Given the description of an element on the screen output the (x, y) to click on. 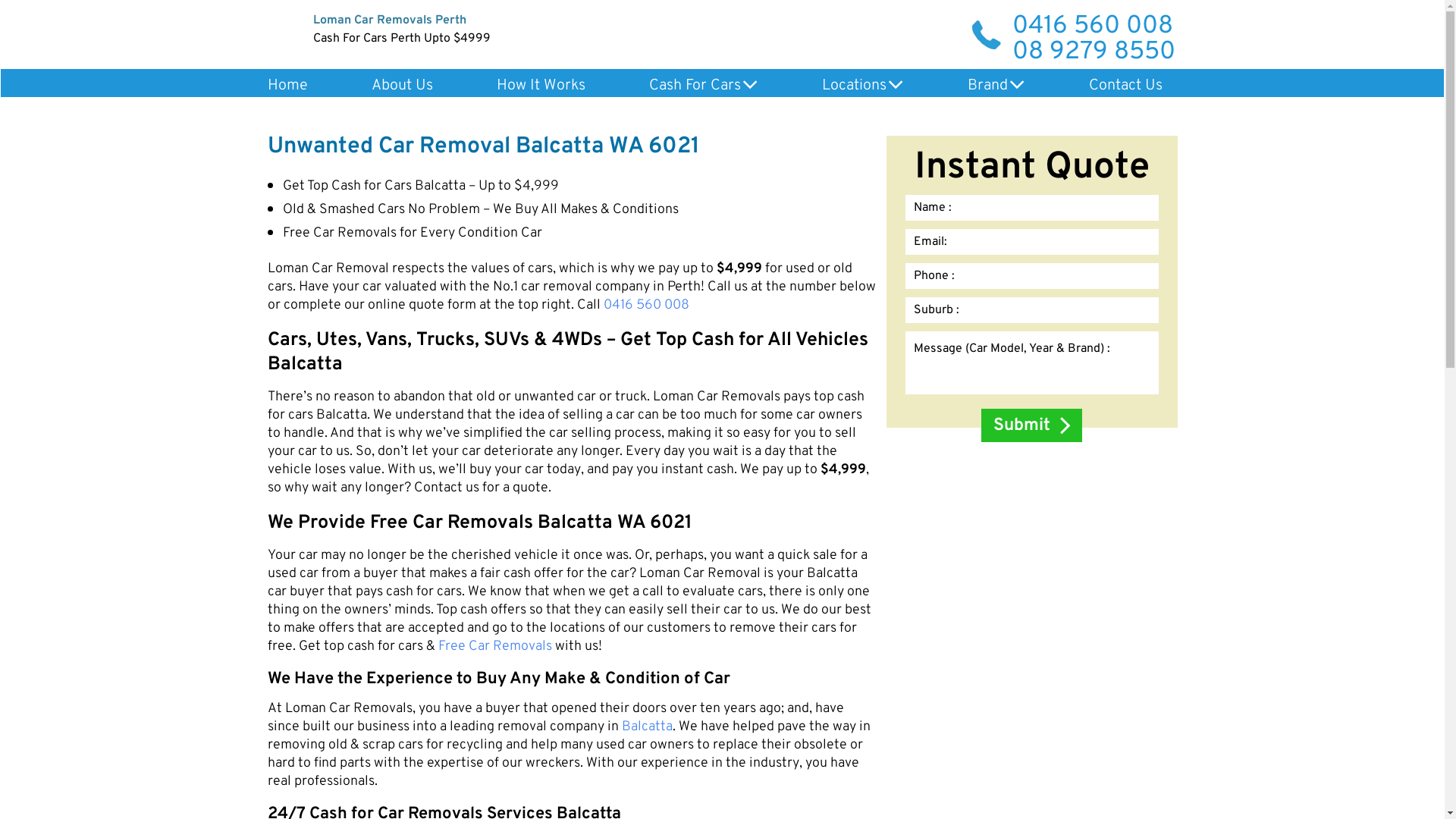
0416 560 008 Element type: text (646, 305)
Free Car Removals Element type: text (495, 646)
How It Works Element type: text (539, 85)
Submit Element type: text (1031, 425)
0416 560 008 Element type: text (1093, 26)
Loman Car Removals Perth
Cash For Cars Perth Upto $4999 Element type: text (721, 30)
Locations Element type: text (862, 85)
About Us Element type: text (402, 85)
Contact Us Element type: text (1125, 85)
Cash For Cars Element type: text (703, 85)
Brand Element type: text (996, 85)
Home Element type: text (286, 85)
Balcatta Element type: text (646, 727)
08 9279 8550 Element type: text (1093, 52)
